Given the description of an element on the screen output the (x, y) to click on. 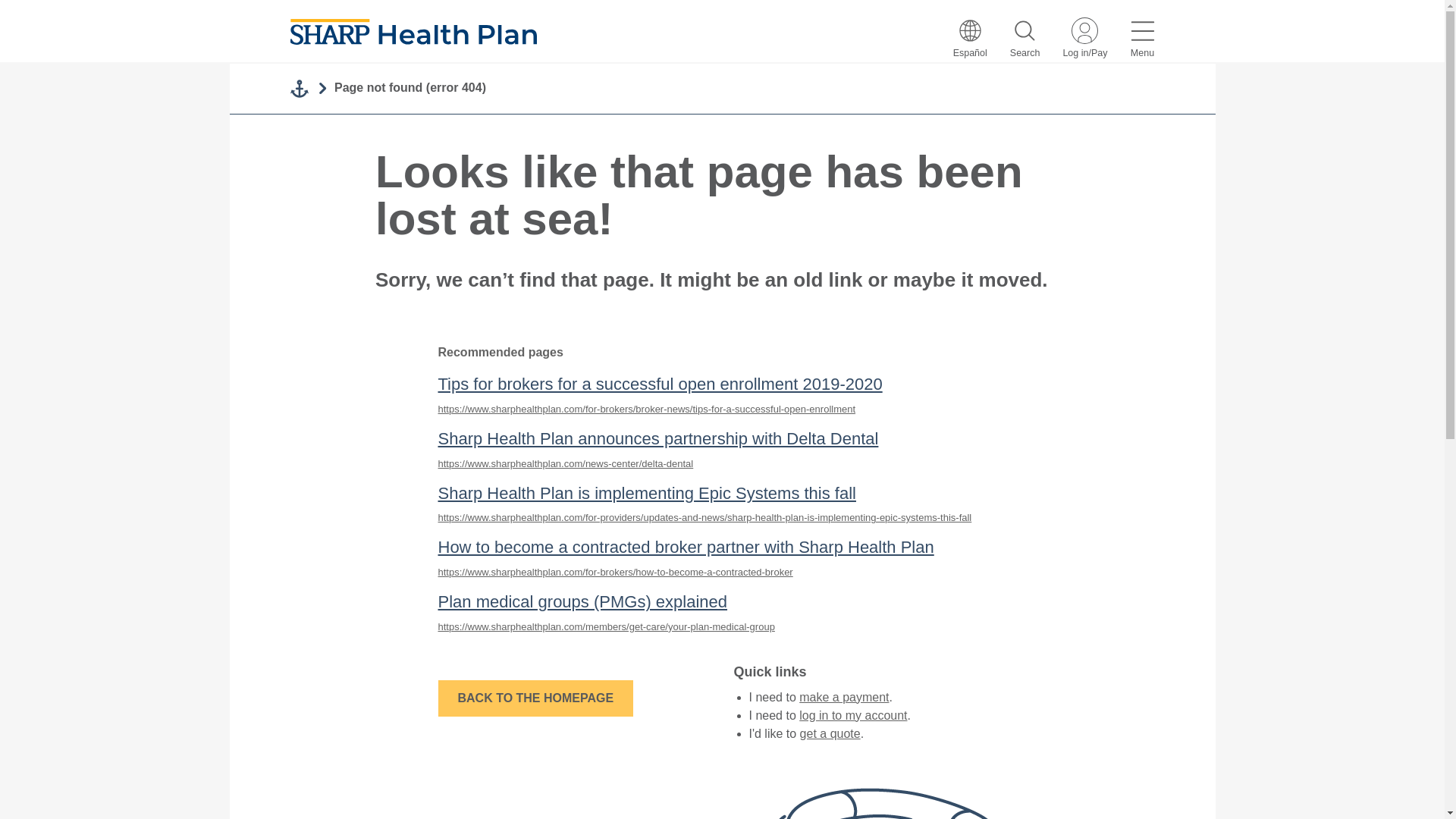
shp-404 (721, 780)
make a payment (843, 697)
Tips for brokers for a successful open enrollment 2019-2020 (660, 383)
Sharp Health Plan announces partnership with Delta Dental (658, 438)
Sharp Health Plan is implementing Epic Systems this fall (647, 493)
BACK TO THE HOMEPAGE (535, 698)
Log in (1084, 39)
log in to my account (853, 715)
get a quote (829, 733)
